Given the description of an element on the screen output the (x, y) to click on. 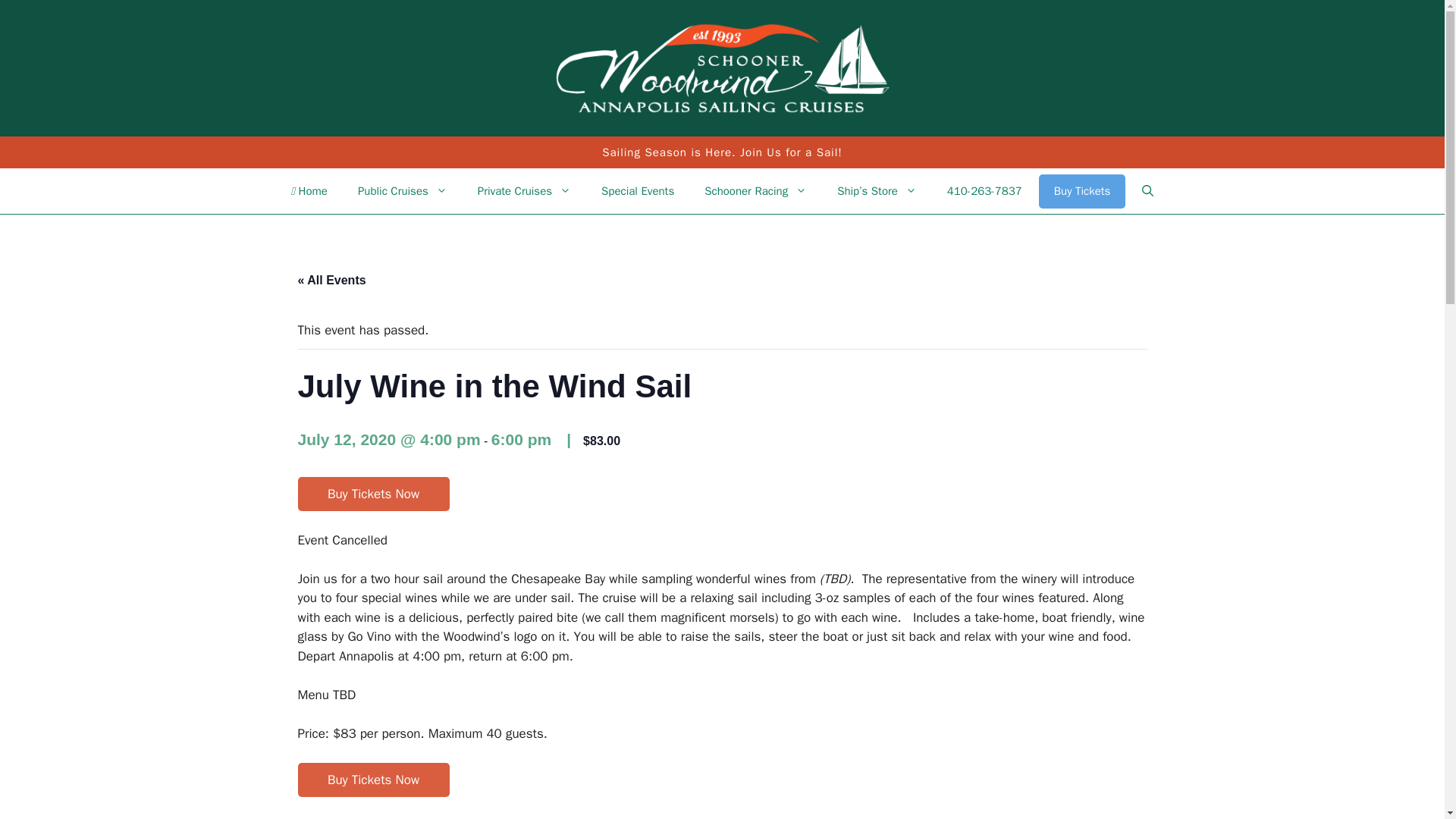
410-263-7837 (983, 190)
Home (309, 190)
Schooner Racing (755, 190)
Public Cruises (402, 190)
Special Events (637, 190)
Private Cruises (524, 190)
Buy Tickets (1082, 191)
